Given the description of an element on the screen output the (x, y) to click on. 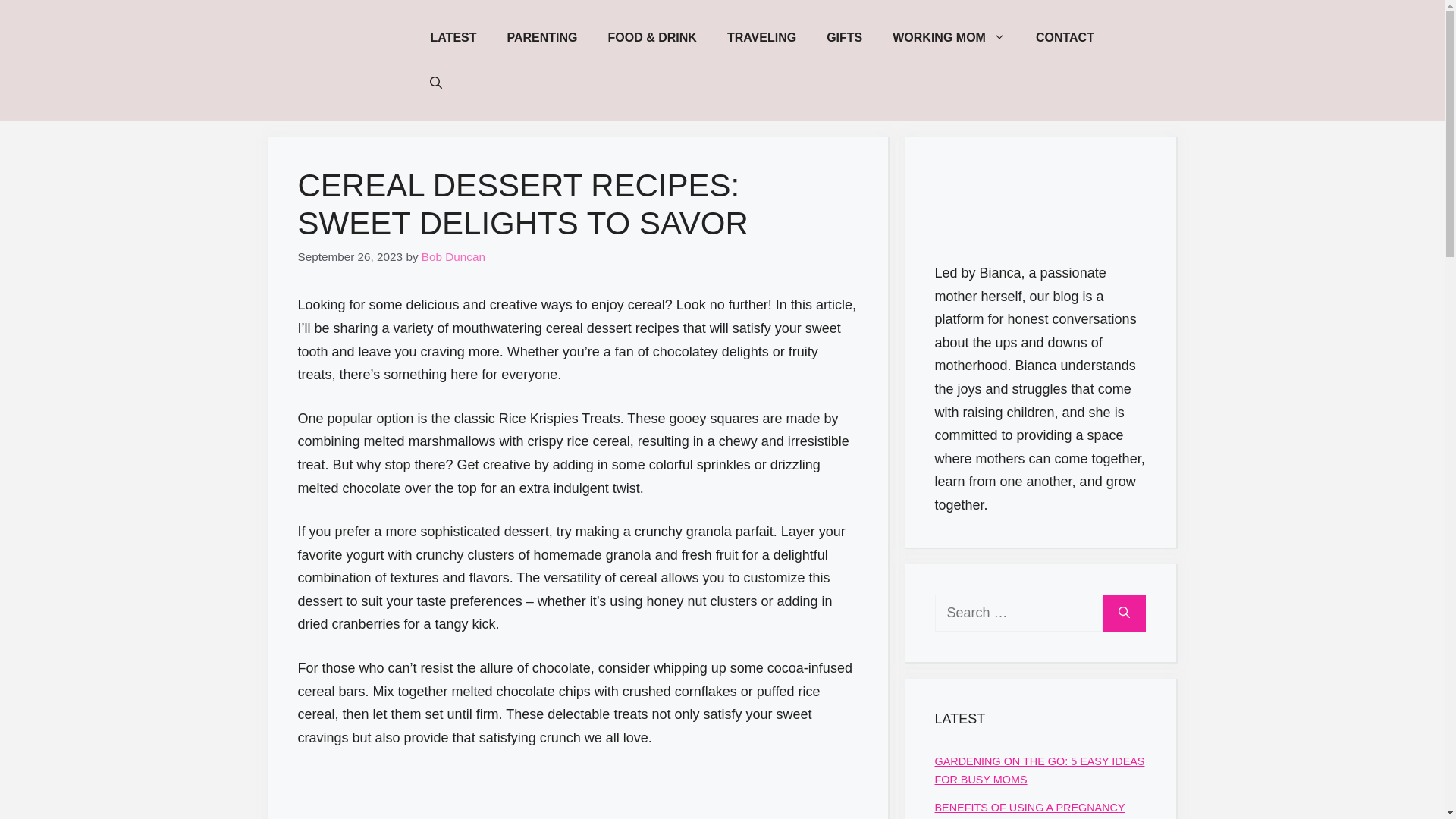
BENEFITS OF USING A PREGNANCY PILLOW (1029, 810)
WORKING MOM (948, 37)
GIFTS (843, 37)
CONTACT (1064, 37)
Bob Duncan (453, 256)
GARDENING ON THE GO: 5 EASY IDEAS FOR BUSY MOMS (1039, 770)
View all posts by Bob Duncan (453, 256)
TRAVELING (760, 37)
LATEST (453, 37)
Search for: (1018, 612)
